Given the description of an element on the screen output the (x, y) to click on. 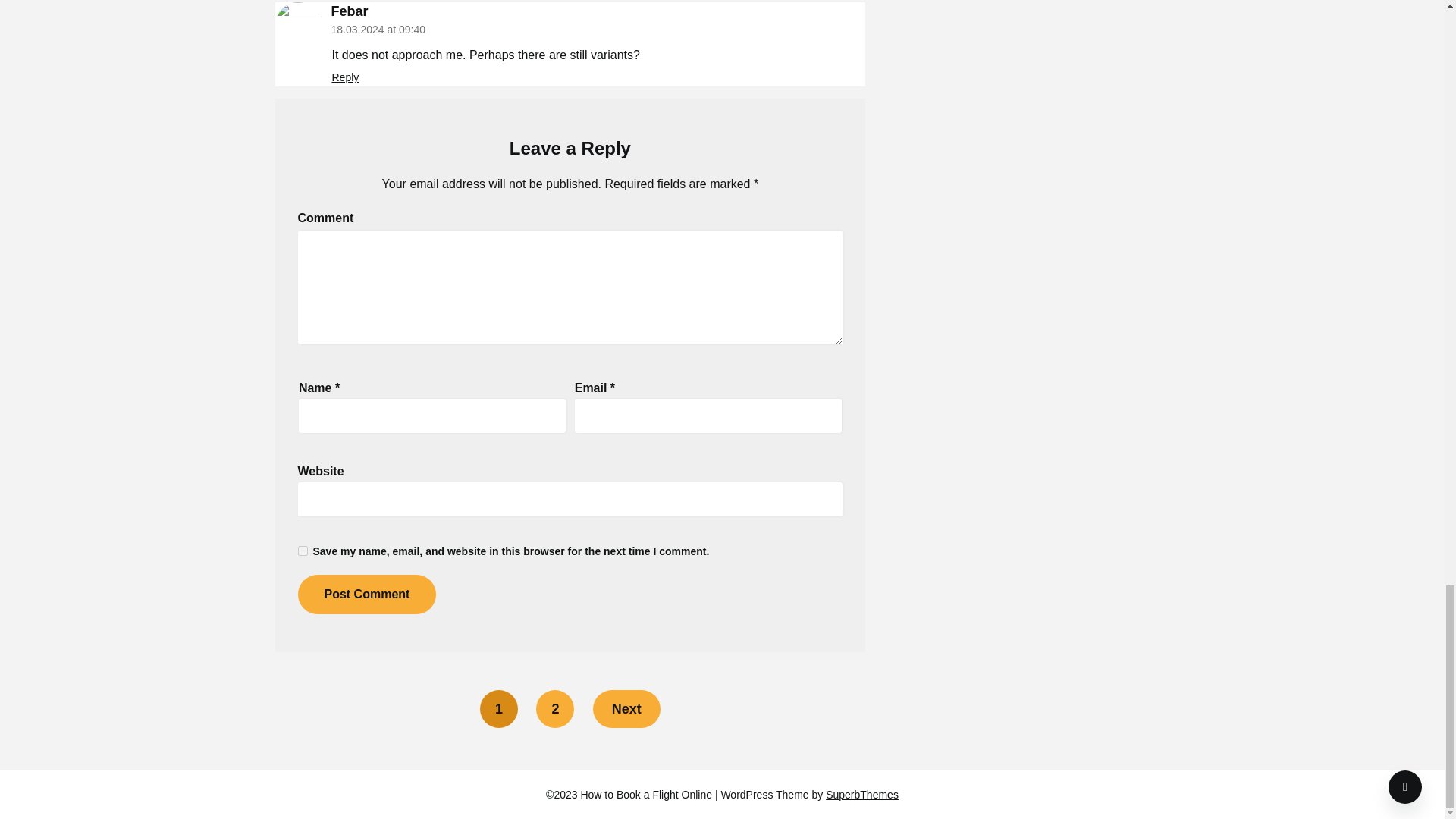
yes (302, 551)
Reply (345, 77)
2 (554, 709)
Next (626, 709)
Post Comment (366, 594)
18.03.2024 at 09:40 (377, 29)
Post Comment (366, 594)
